Given the description of an element on the screen output the (x, y) to click on. 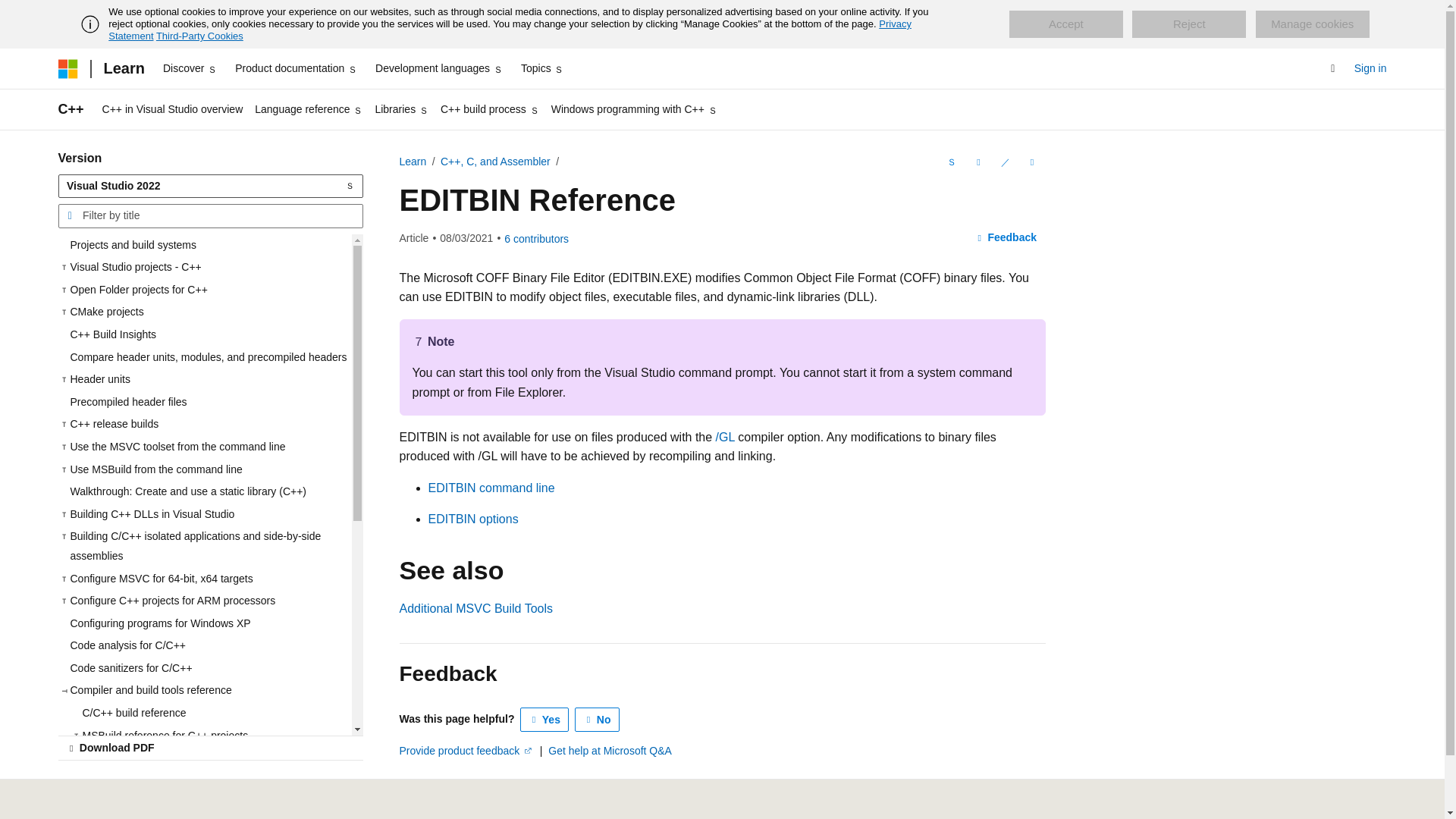
Learn (123, 68)
Reject (1189, 23)
Skip to main content (11, 11)
This article is not helpful (597, 719)
Edit This Document (1004, 161)
Privacy Statement (509, 29)
Language reference (308, 109)
Theme (425, 817)
This article is helpful (544, 719)
Sign in (1370, 68)
Product documentation (295, 68)
Discover (189, 68)
Topics (542, 68)
Accept (1065, 23)
Manage cookies (1312, 23)
